Given the description of an element on the screen output the (x, y) to click on. 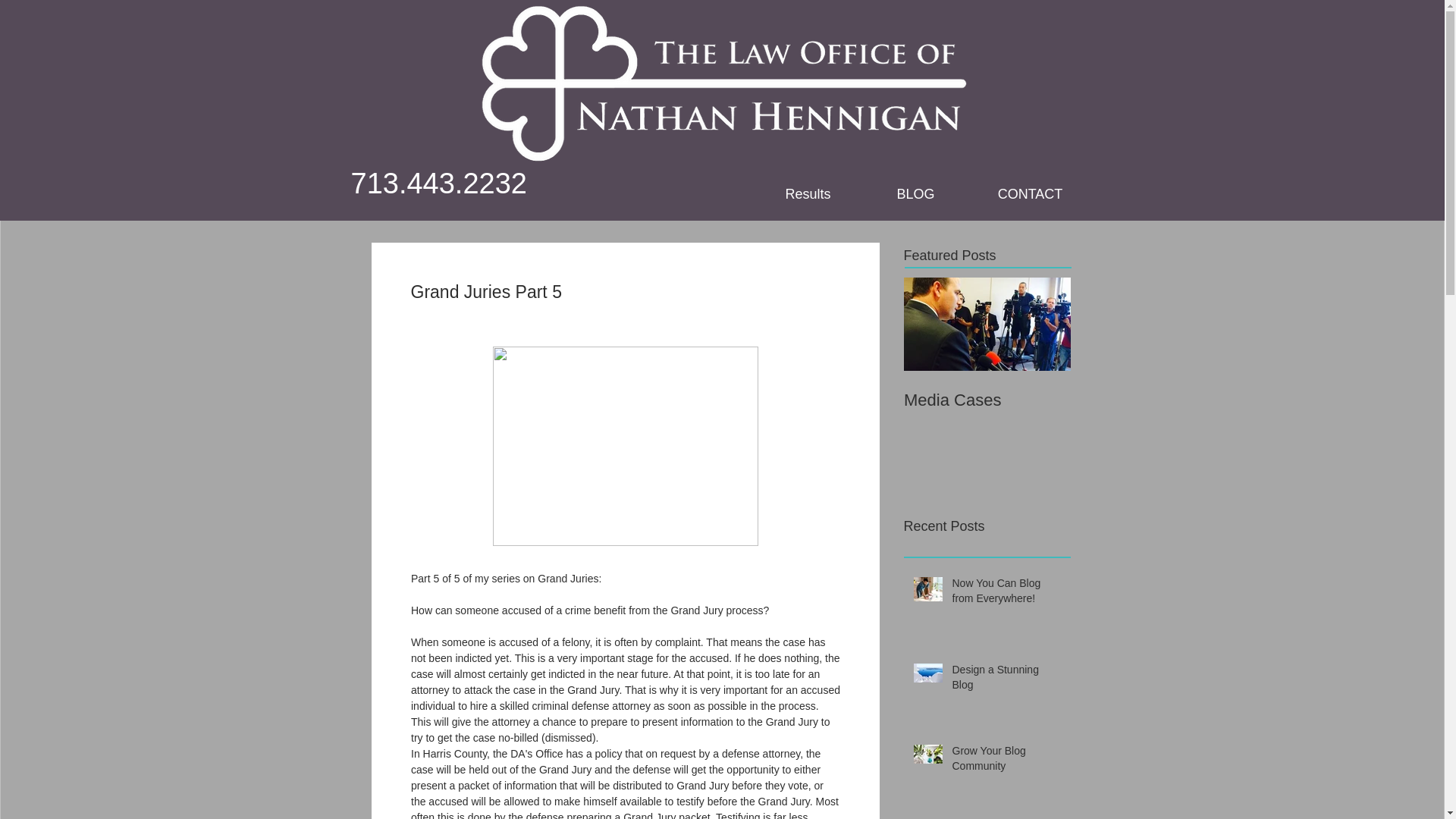
713.443.2232 (437, 183)
Media Cases (987, 400)
Design a Stunning Blog (1006, 680)
Now You Can Blog from Everywhere! (1006, 593)
CONTACT (1029, 194)
Grow Your Blog Community (1006, 761)
Results (807, 194)
BLOG (915, 194)
